Given the description of an element on the screen output the (x, y) to click on. 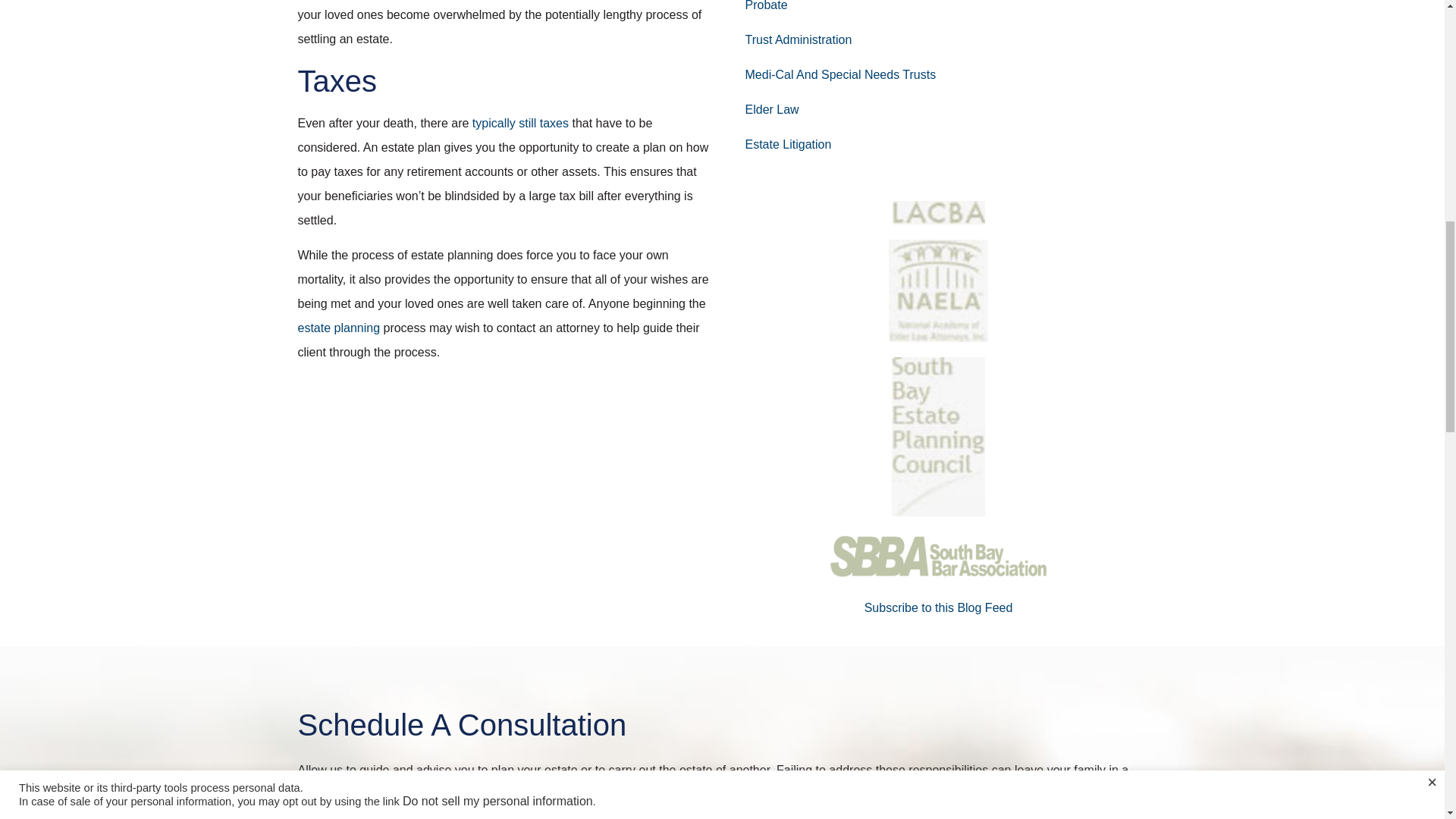
estate planning (338, 327)
typically still taxes (520, 123)
